Given the description of an element on the screen output the (x, y) to click on. 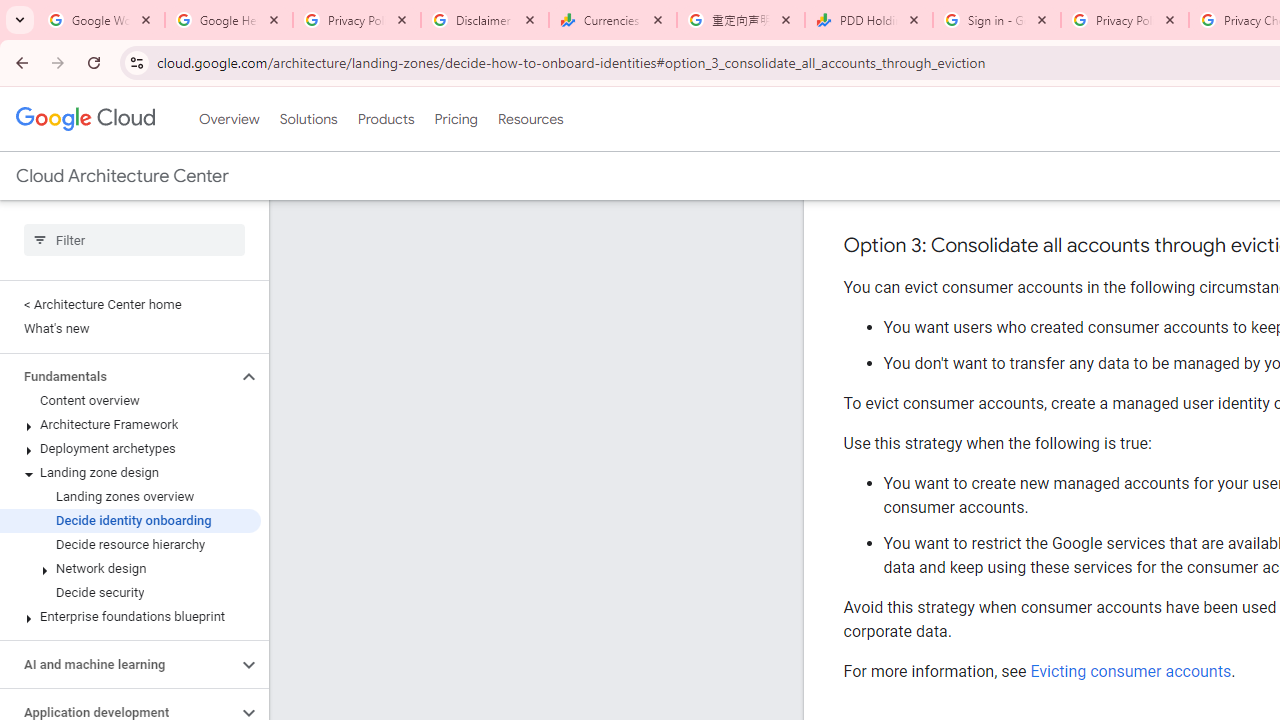
Enterprise foundations blueprint (130, 616)
Type to filter (134, 239)
Pricing (455, 119)
Deployment archetypes (130, 448)
PDD Holdings Inc - ADR (PDD) Price & News - Google Finance (869, 20)
Evicting consumer accounts (1130, 671)
What's new (130, 328)
